Given the description of an element on the screen output the (x, y) to click on. 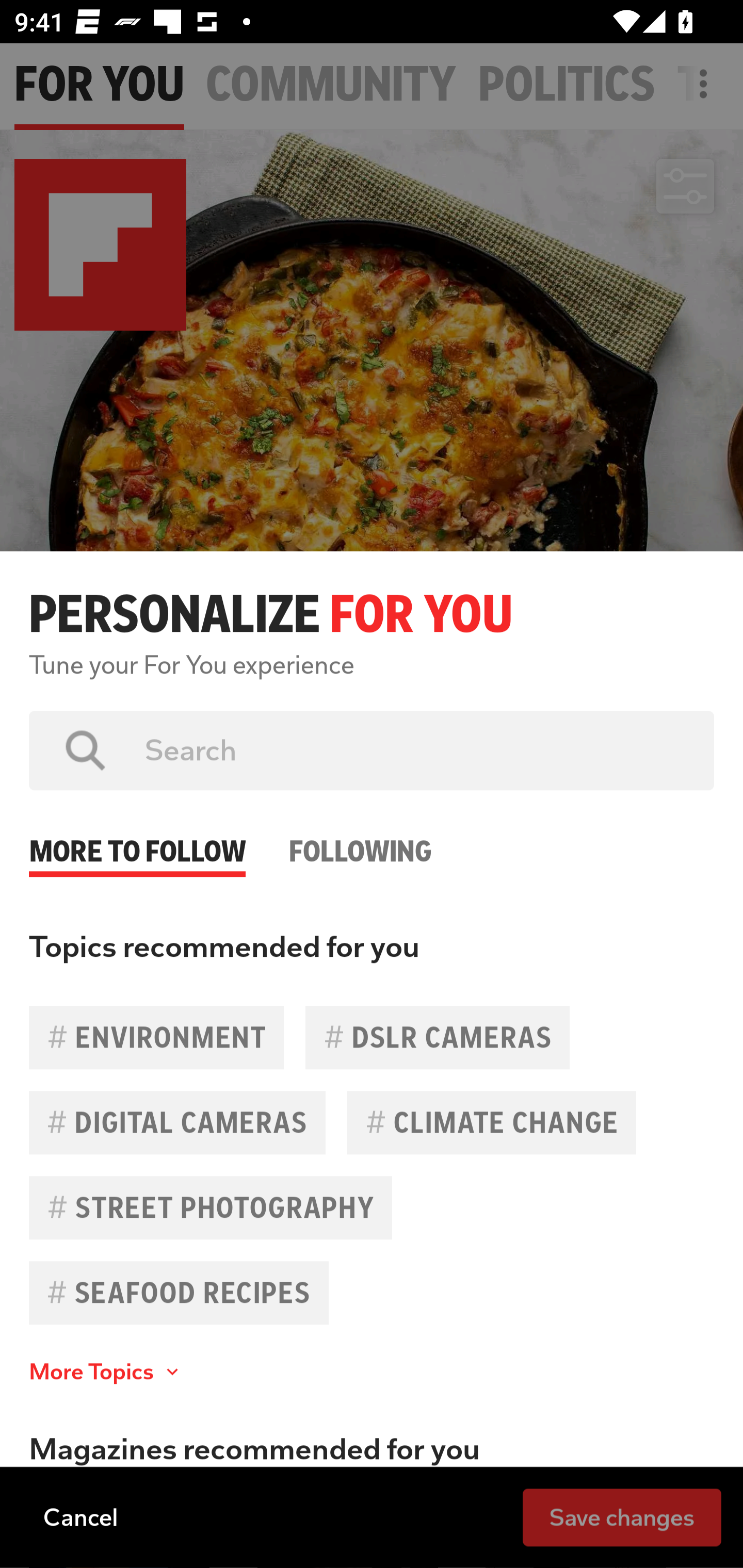
Search (414, 750)
Following FOLLOWING (360, 833)
# ENVIRONMENT (155, 1037)
# DSLR CAMERAS (437, 1037)
# DIGITAL CAMERAS (176, 1122)
# CLIMATE CHANGE (491, 1122)
# STREET PHOTOGRAPHY (210, 1207)
# SEAFOOD RECIPES (178, 1292)
More Topics (105, 1371)
Cancel (80, 1516)
Save changes (621, 1517)
